Given the description of an element on the screen output the (x, y) to click on. 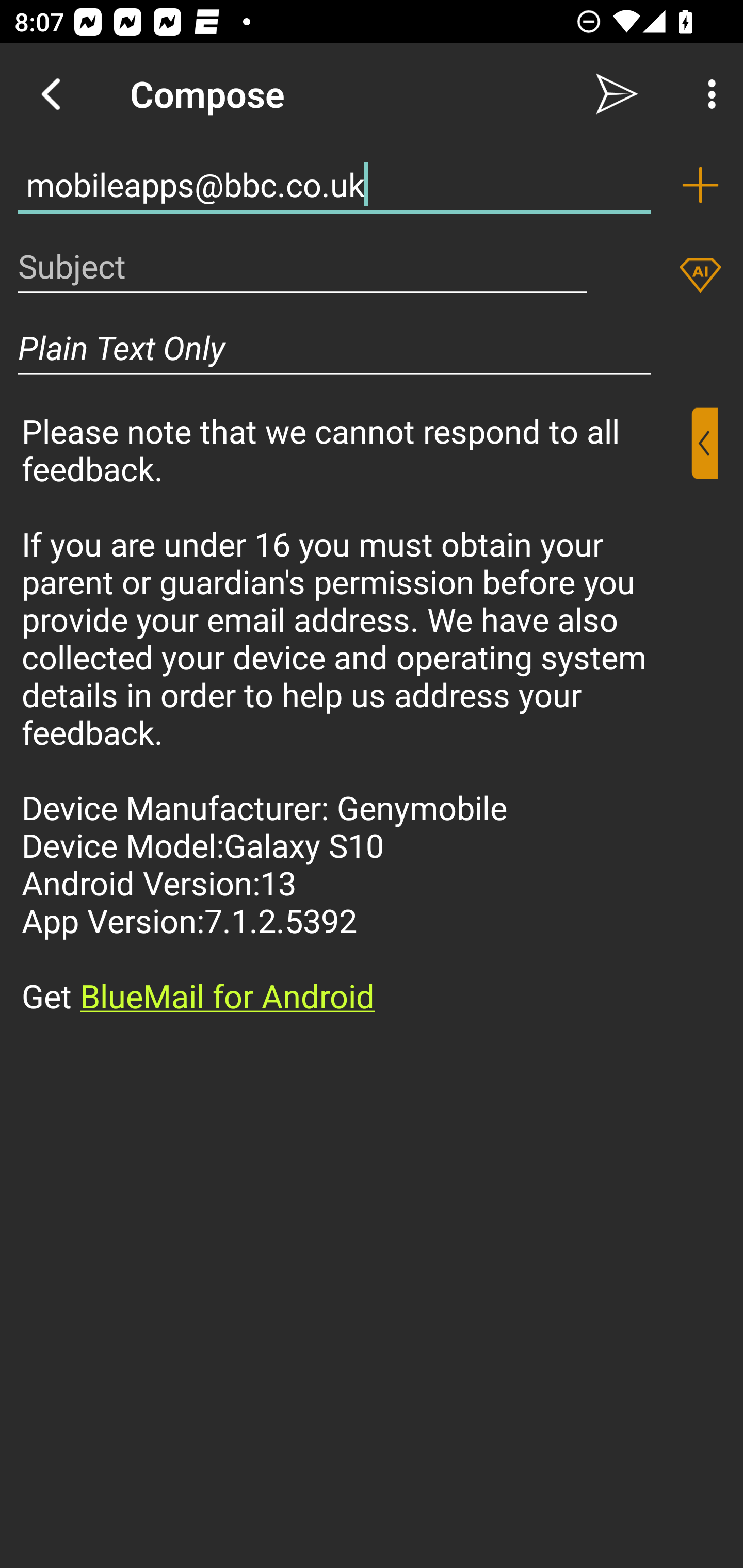
Navigate up (50, 93)
Send (616, 93)
More Options (706, 93)
 mobileapps@bbc.co.uk (334, 184)
Add recipient (To) (699, 184)
Subject (302, 266)
Plain Text Only (334, 347)
